Given the description of an element on the screen output the (x, y) to click on. 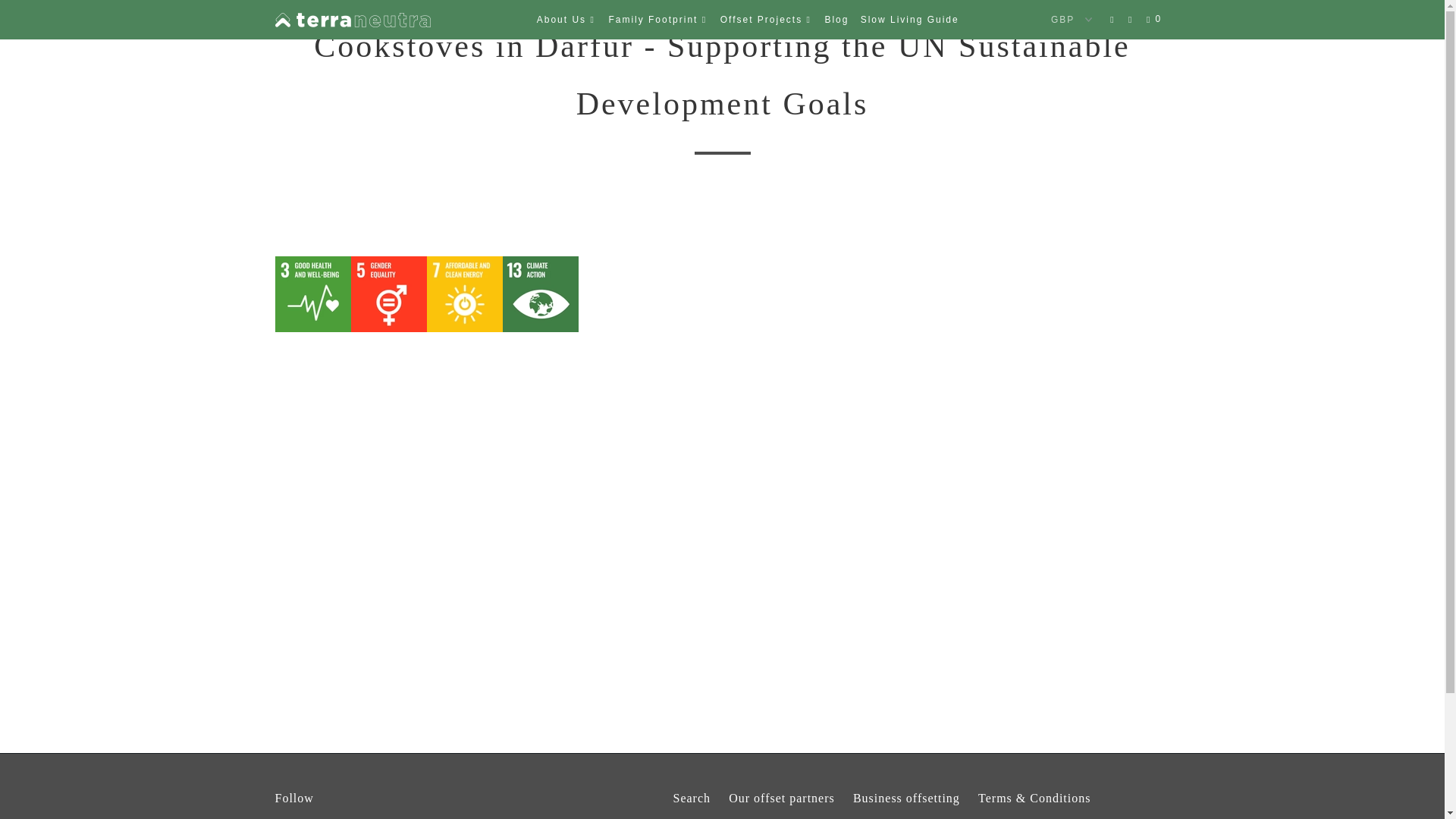
UN Sustainable Development Goals (569, 188)
Family Footprint (658, 19)
Terra Neutra (352, 19)
0 (1154, 19)
About Us (566, 19)
